Given the description of an element on the screen output the (x, y) to click on. 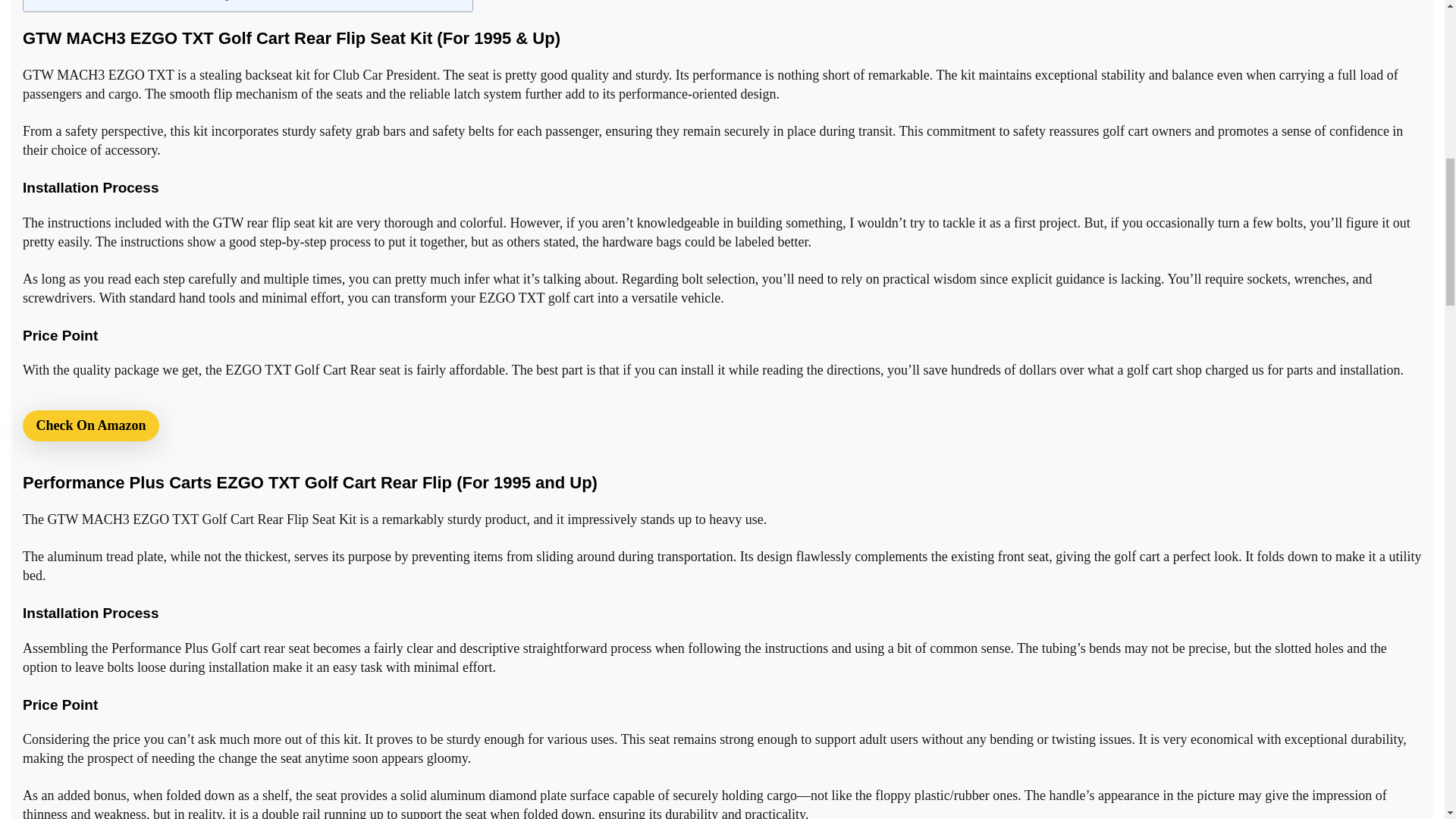
How to Install Golf Cart Rear Flip Seat (144, 2)
